Given the description of an element on the screen output the (x, y) to click on. 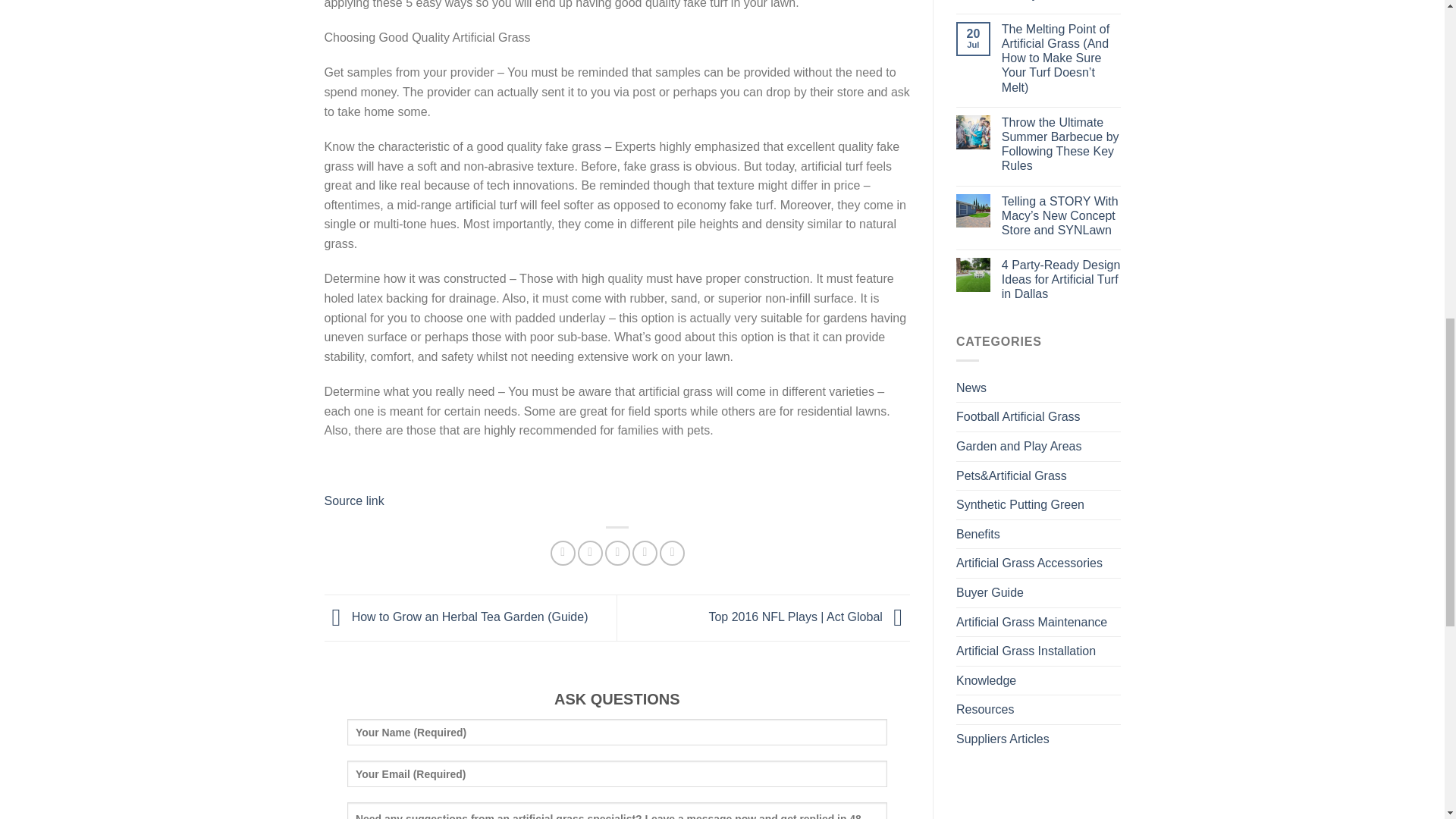
Source link (354, 500)
4 Party-Ready Design Ideas for Artificial Turf in Dallas (1061, 279)
